Given the description of an element on the screen output the (x, y) to click on. 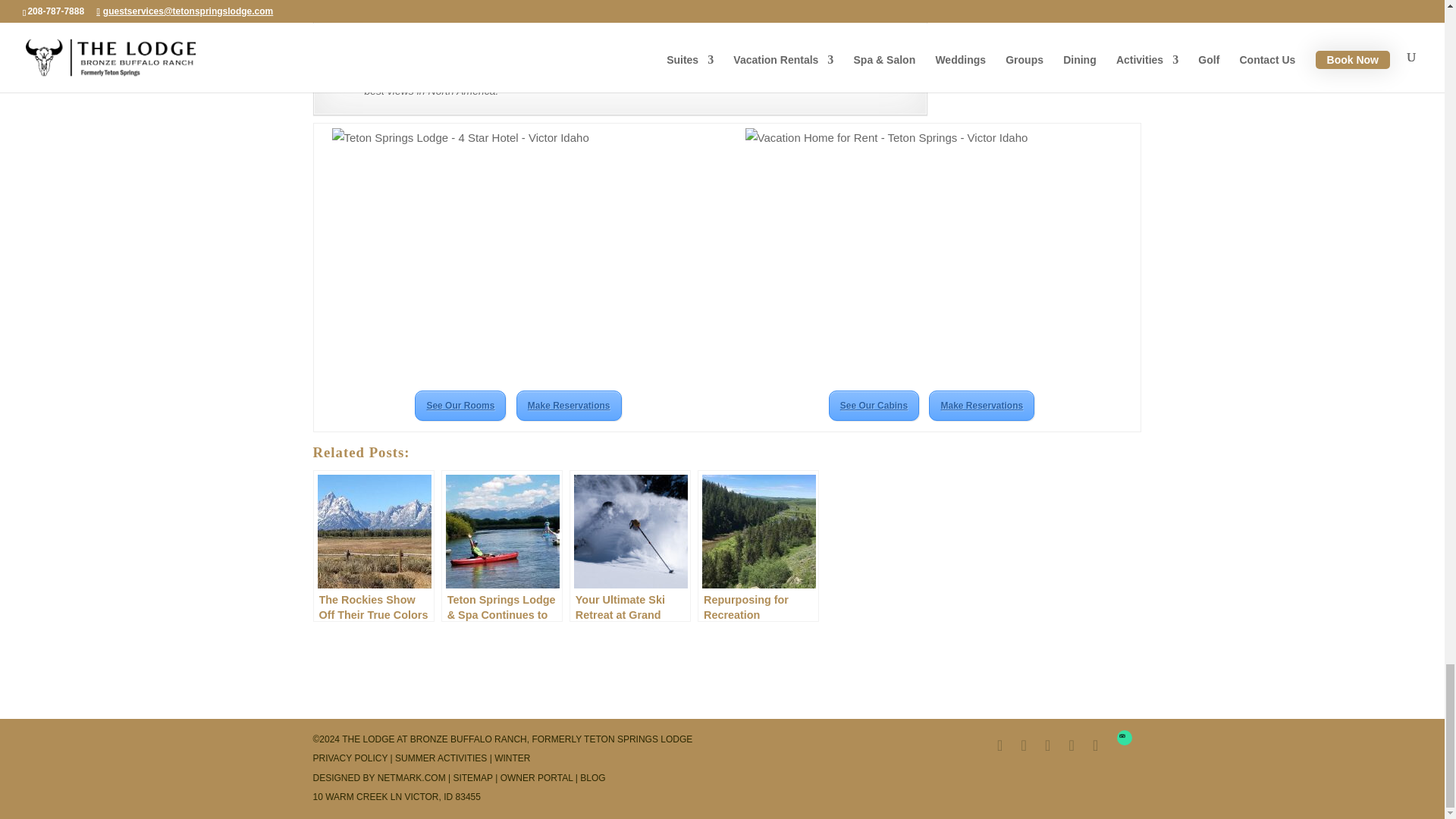
Read traveler reviews on Tripadvisor (1123, 736)
